Given the description of an element on the screen output the (x, y) to click on. 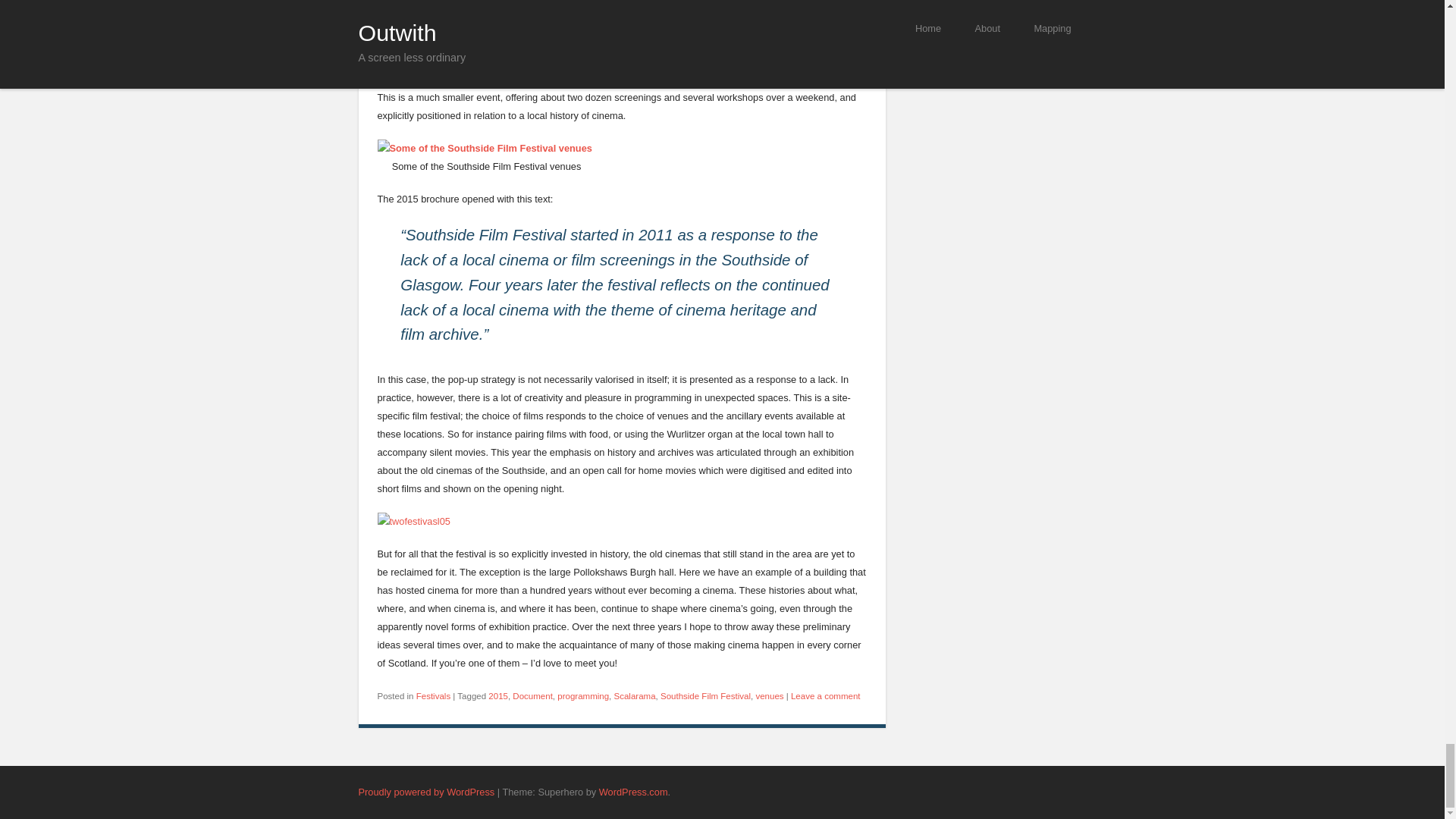
A Semantic Personal Publishing Platform (426, 791)
